Given the description of an element on the screen output the (x, y) to click on. 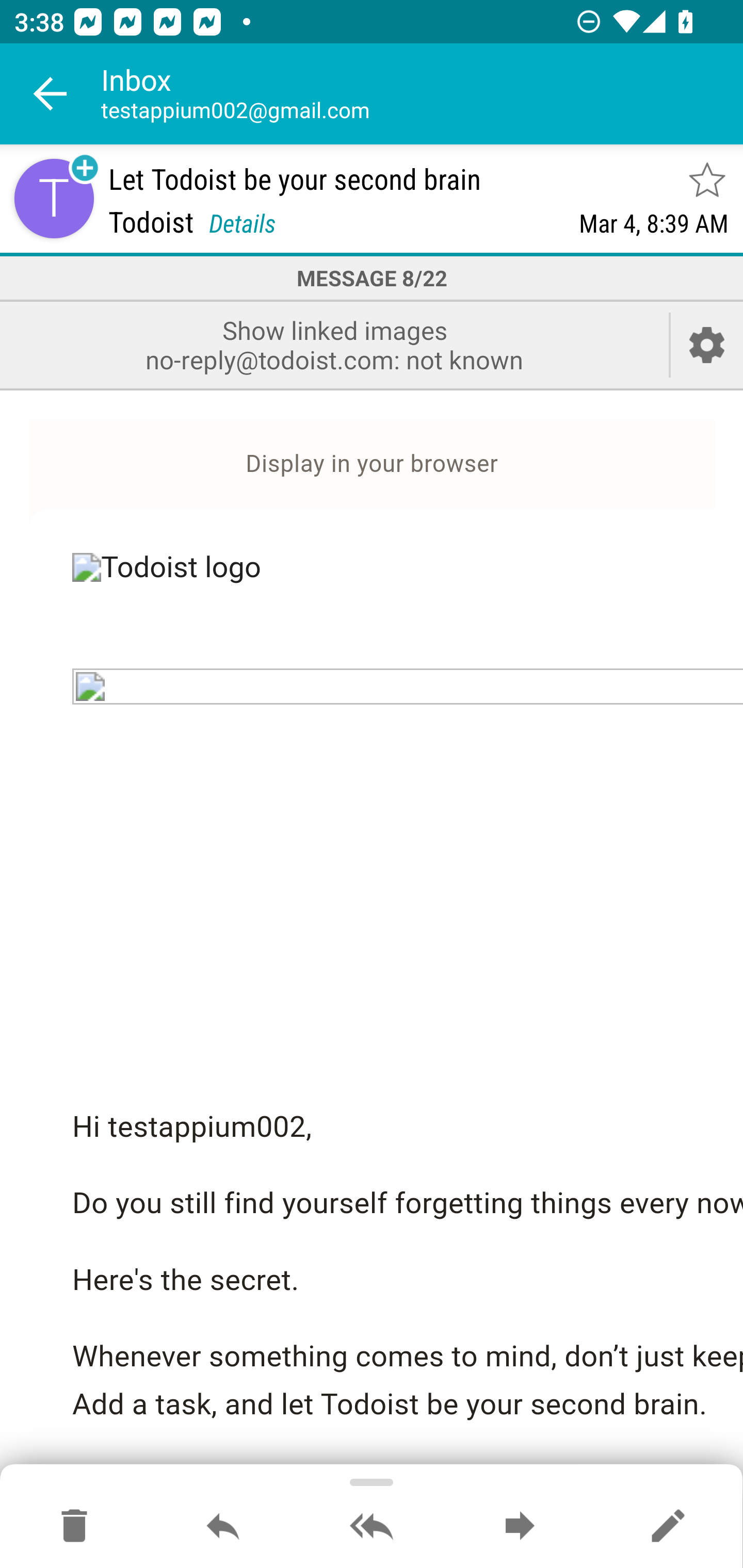
Navigate up (50, 93)
Inbox testappium002@gmail.com (422, 93)
Sender contact button (53, 198)
Show linked images
no-reply@todoist.com: not known (334, 344)
Account setup (706, 344)
Display in your browser (371, 464)
Move to Deleted (74, 1527)
Reply (222, 1527)
Reply all (371, 1527)
Forward (519, 1527)
Reply as new (667, 1527)
